Given the description of an element on the screen output the (x, y) to click on. 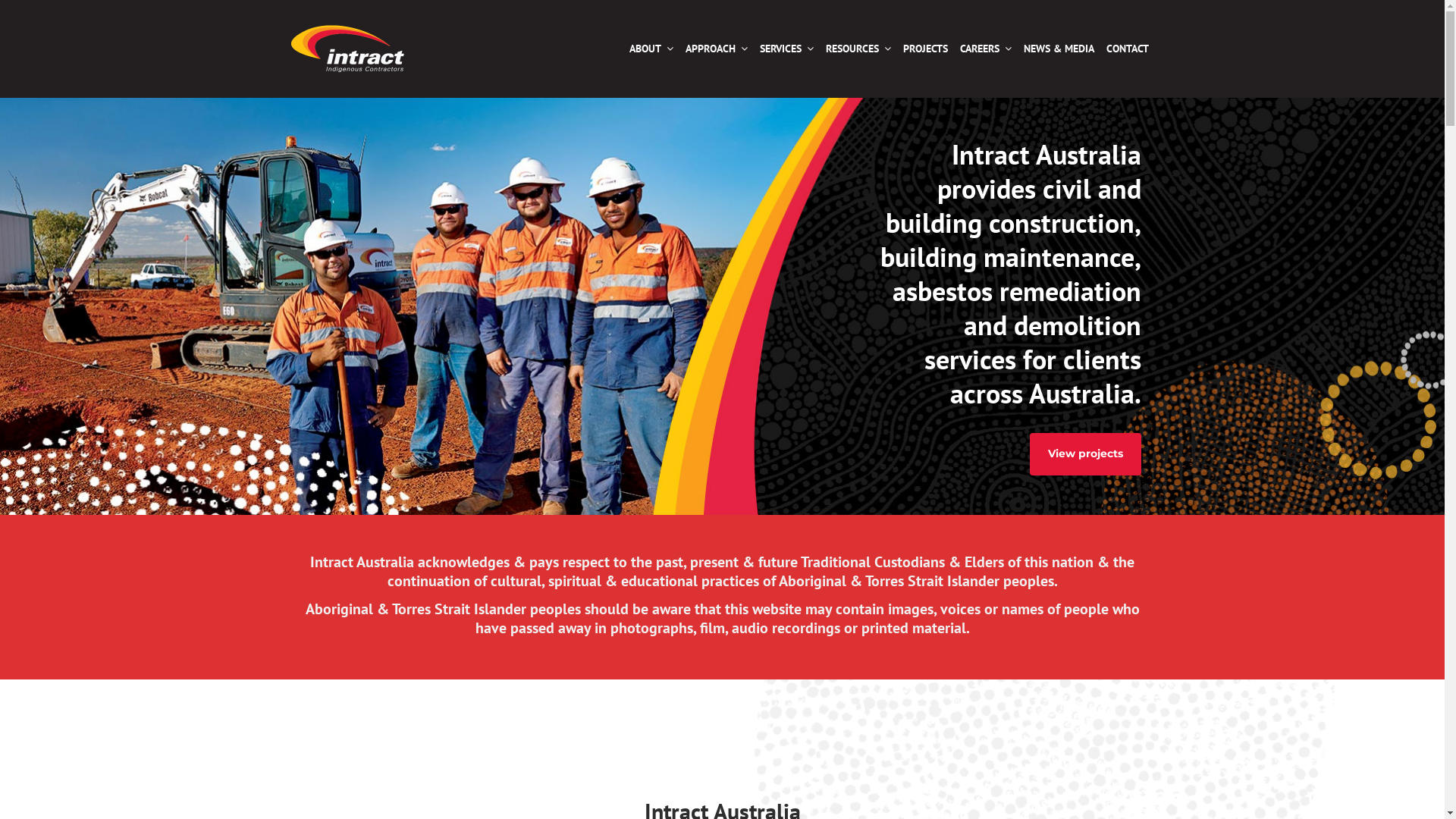
SERVICES Element type: text (786, 48)
CONTACT Element type: text (1126, 48)
PROJECTS Element type: text (924, 48)
ABOUT Element type: text (651, 48)
View projects Element type: text (1085, 453)
APPROACH Element type: text (716, 48)
NEWS & MEDIA Element type: text (1058, 48)
CAREERS Element type: text (985, 48)
RESOURCES Element type: text (857, 48)
